Given the description of an element on the screen output the (x, y) to click on. 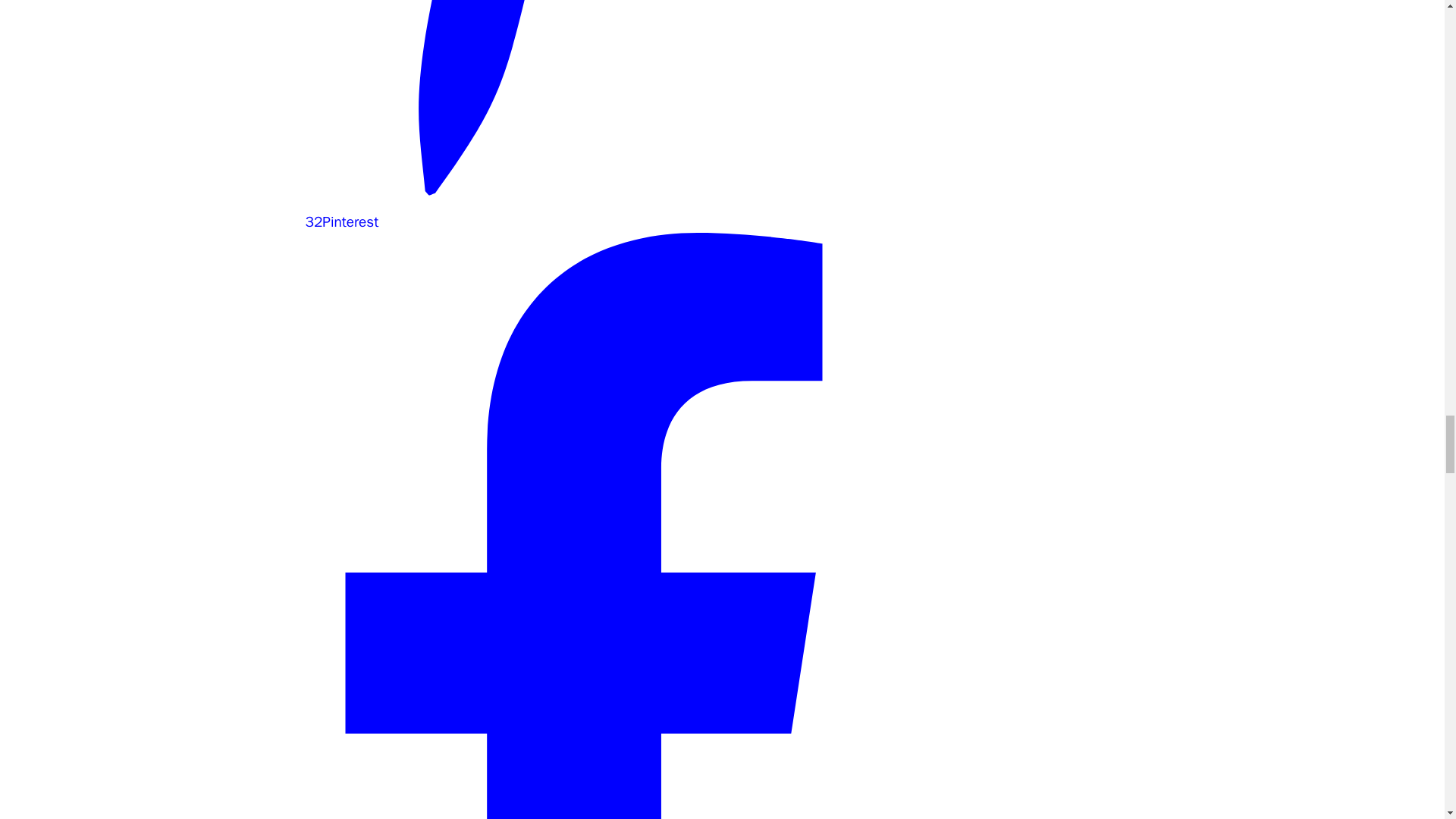
32Pinterest (582, 210)
